Given the description of an element on the screen output the (x, y) to click on. 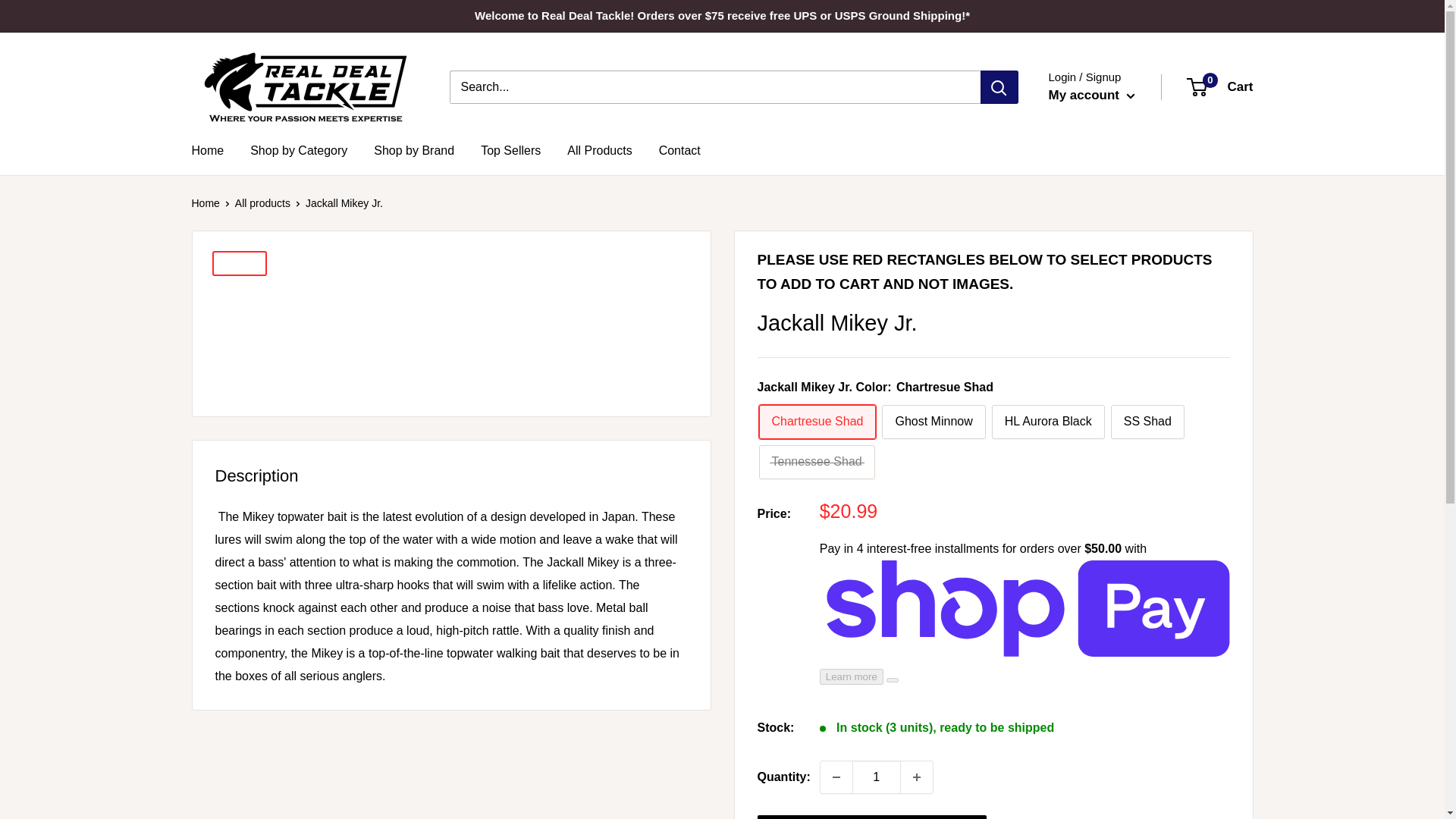
Contact (679, 150)
Shop by Category (298, 150)
Real Deal Tackle (304, 86)
Top Sellers (510, 150)
Increase quantity by 1 (917, 777)
Home (207, 150)
Ghost Minnow (933, 421)
All Products (599, 150)
SS Shad (1147, 421)
Tennessee Shad (816, 462)
